Given the description of an element on the screen output the (x, y) to click on. 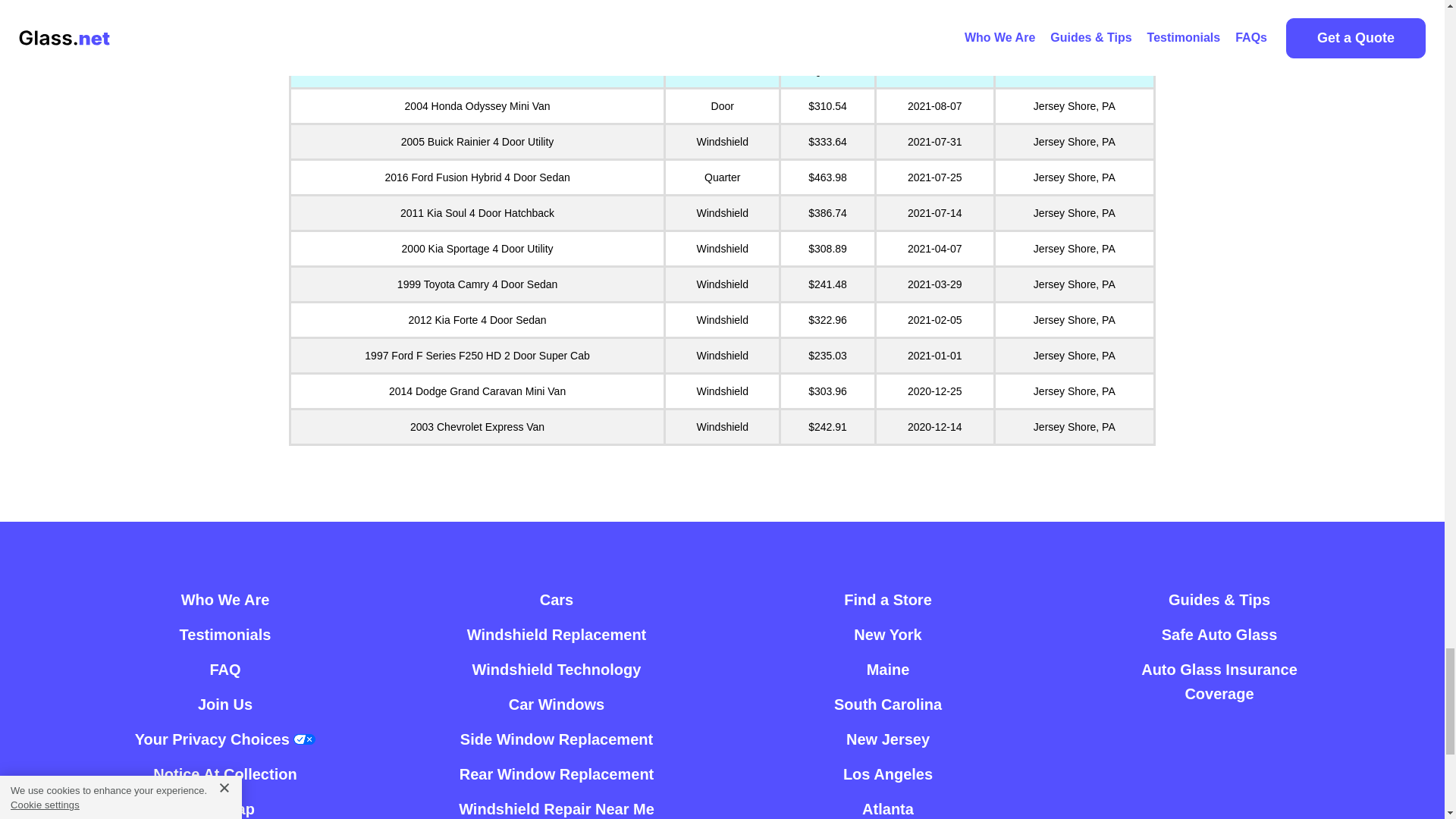
 Local Windshield Replacement (556, 634)
Your Privacy Choices (225, 738)
Notice At Collection (224, 773)
A Market Place for Car Glass (224, 599)
Windshield Repair Near Me (555, 805)
Repair or Replace Auto Glass By Car Make (556, 599)
Testimonials (224, 634)
Notice At Collection  (224, 773)
Join Us (224, 704)
South Carolina (888, 704)
